Given the description of an element on the screen output the (x, y) to click on. 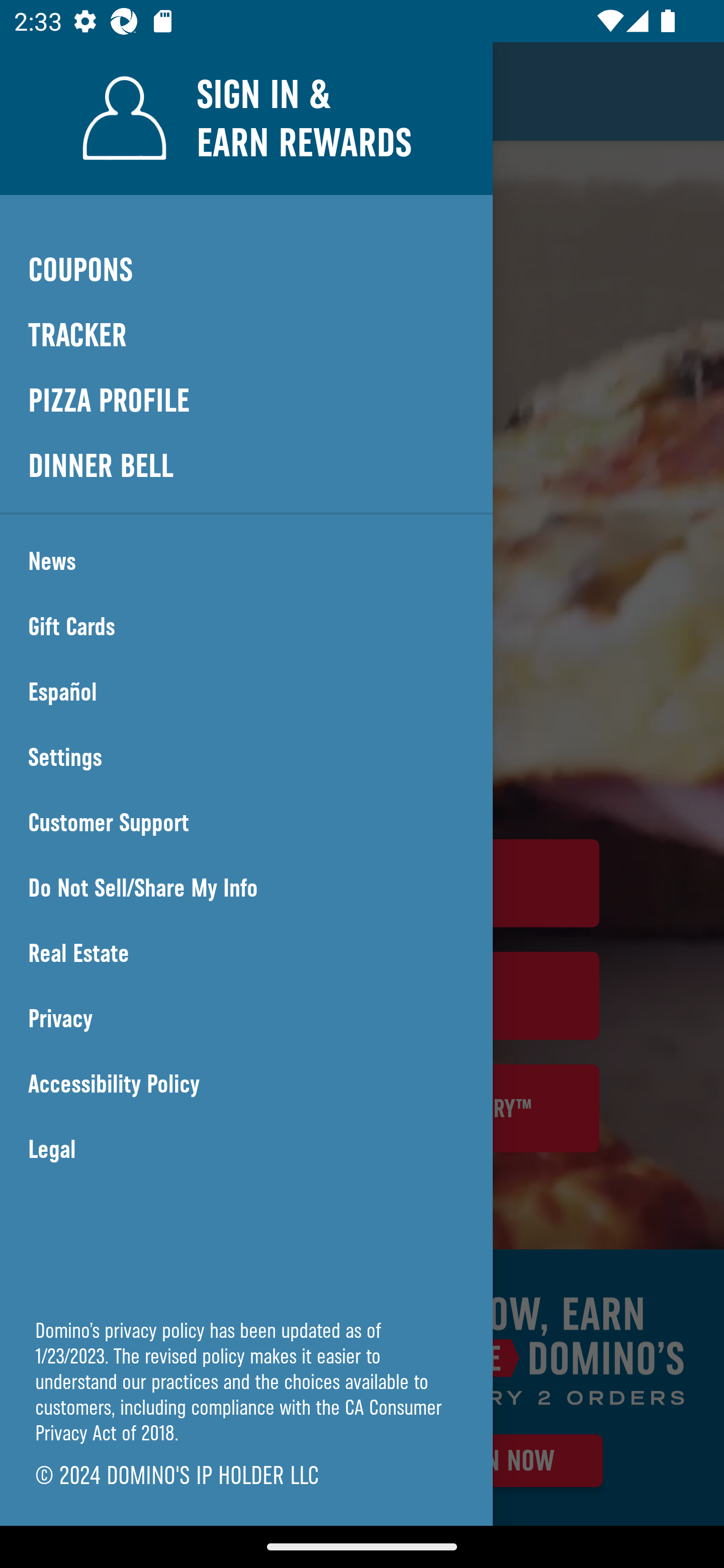
SIGN IN & EARN REWARDS (246, 118)
COUPONS (246, 269)
TRACKER (246, 335)
PIZZA PROFILE (246, 400)
DINNER BELL (246, 465)
News (246, 561)
Gift Cards (246, 627)
Español (246, 692)
Settings (246, 757)
Customer Support (246, 823)
Do Not Sell/Share My Info (246, 888)
Real Estate (246, 953)
Privacy (246, 1019)
Accessibility Policy (246, 1084)
Legal (246, 1149)
